Given the description of an element on the screen output the (x, y) to click on. 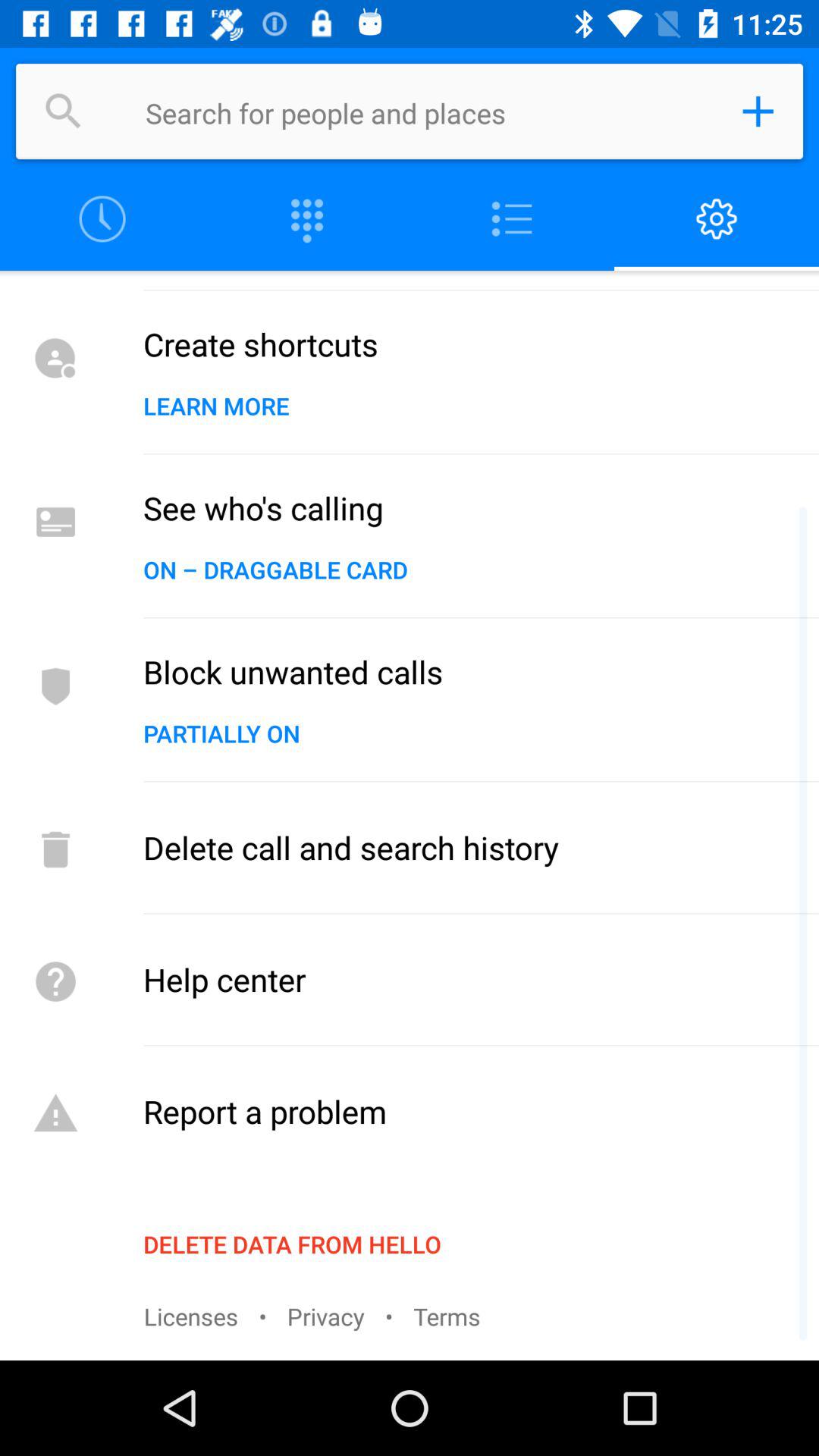
select column (511, 219)
